Given the description of an element on the screen output the (x, y) to click on. 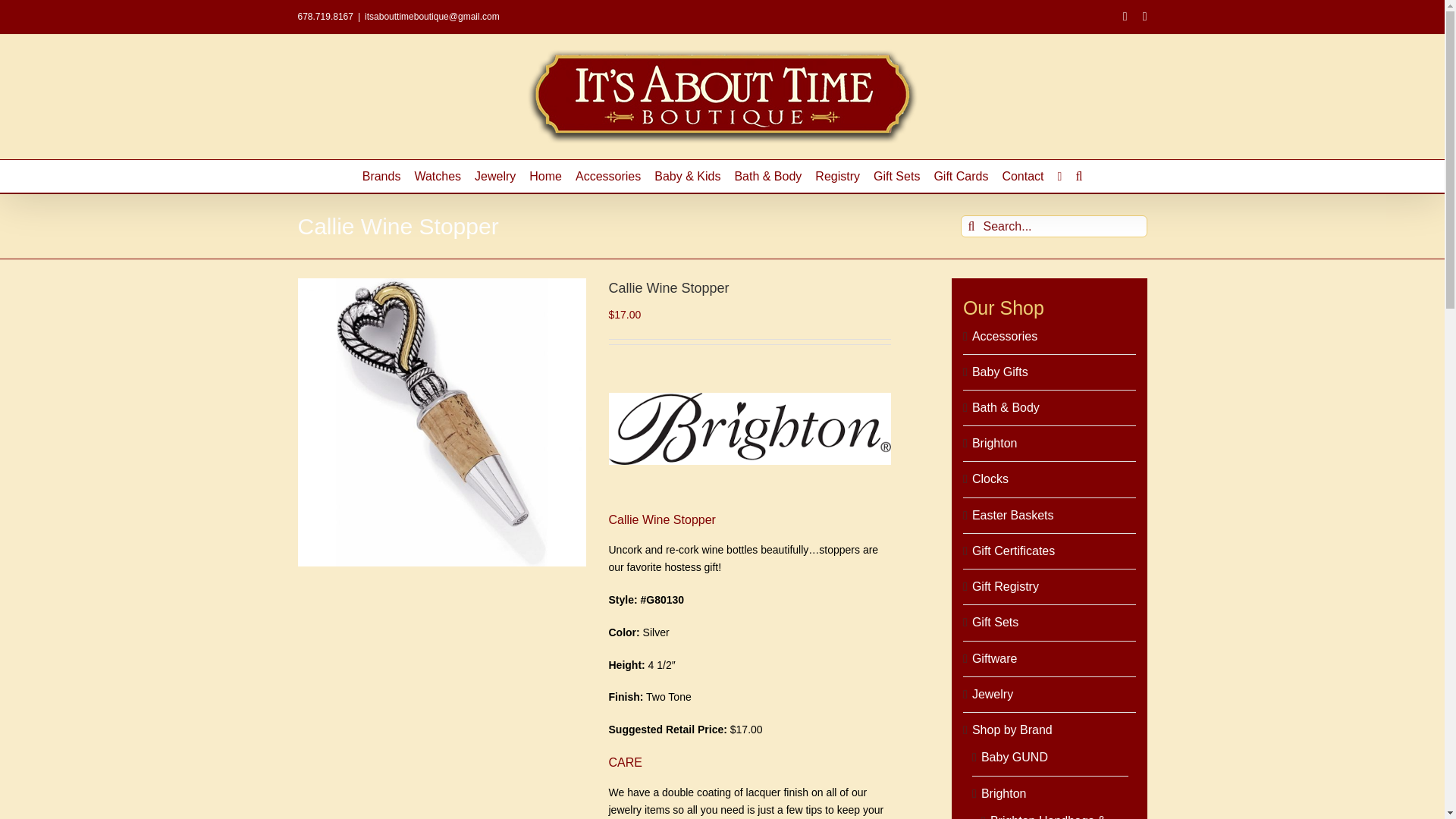
Accessories (607, 175)
Contact (1022, 175)
Gift Cards (960, 175)
Registry (837, 175)
Gift Sets (896, 175)
Home (545, 175)
Brands (381, 175)
Jewelry (494, 175)
Watches (437, 175)
